Given the description of an element on the screen output the (x, y) to click on. 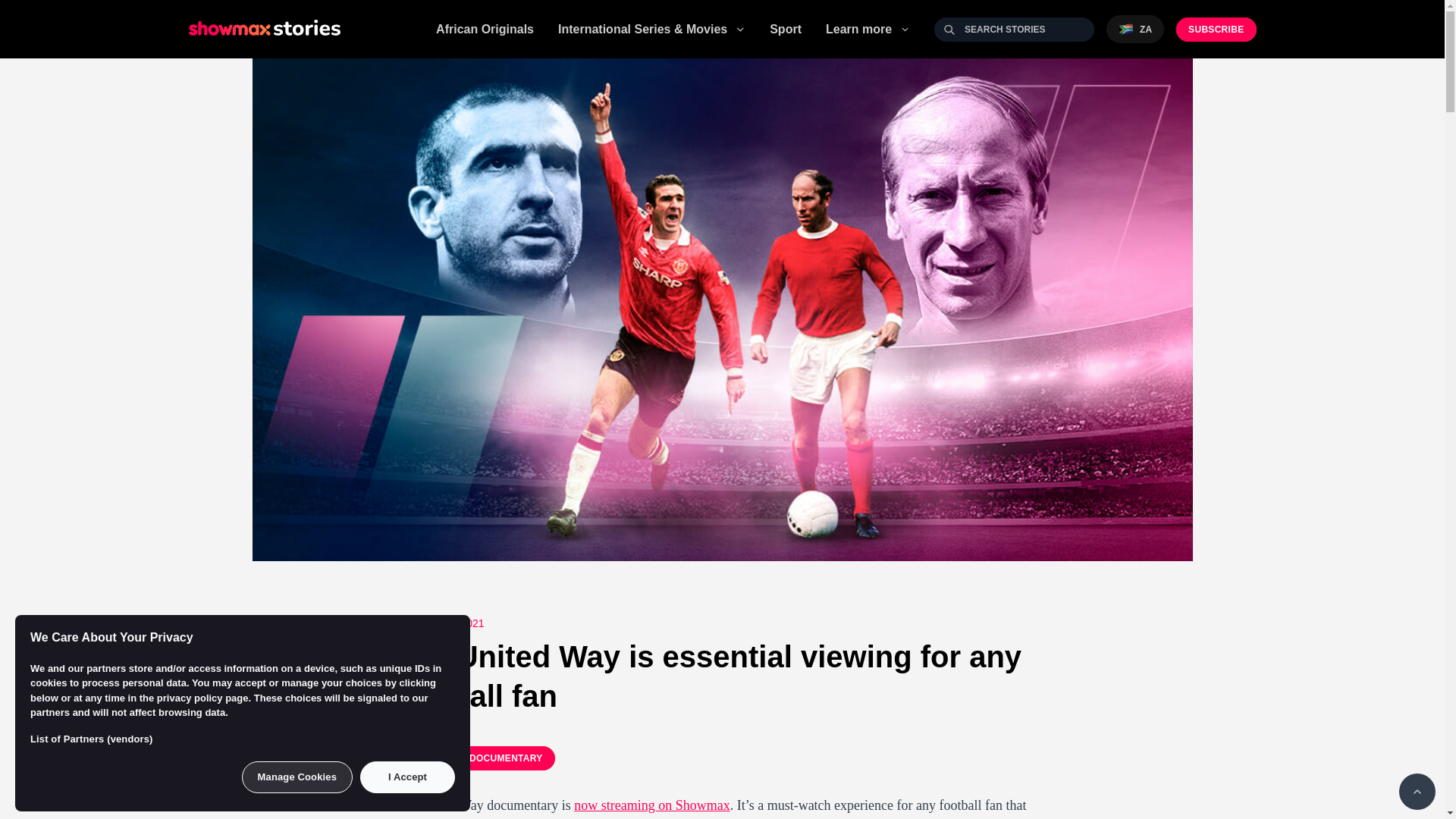
African Originals (484, 29)
Learn more (867, 28)
SUBSCRIBE (1215, 28)
Sport (786, 29)
ZA (1134, 29)
